Given the description of an element on the screen output the (x, y) to click on. 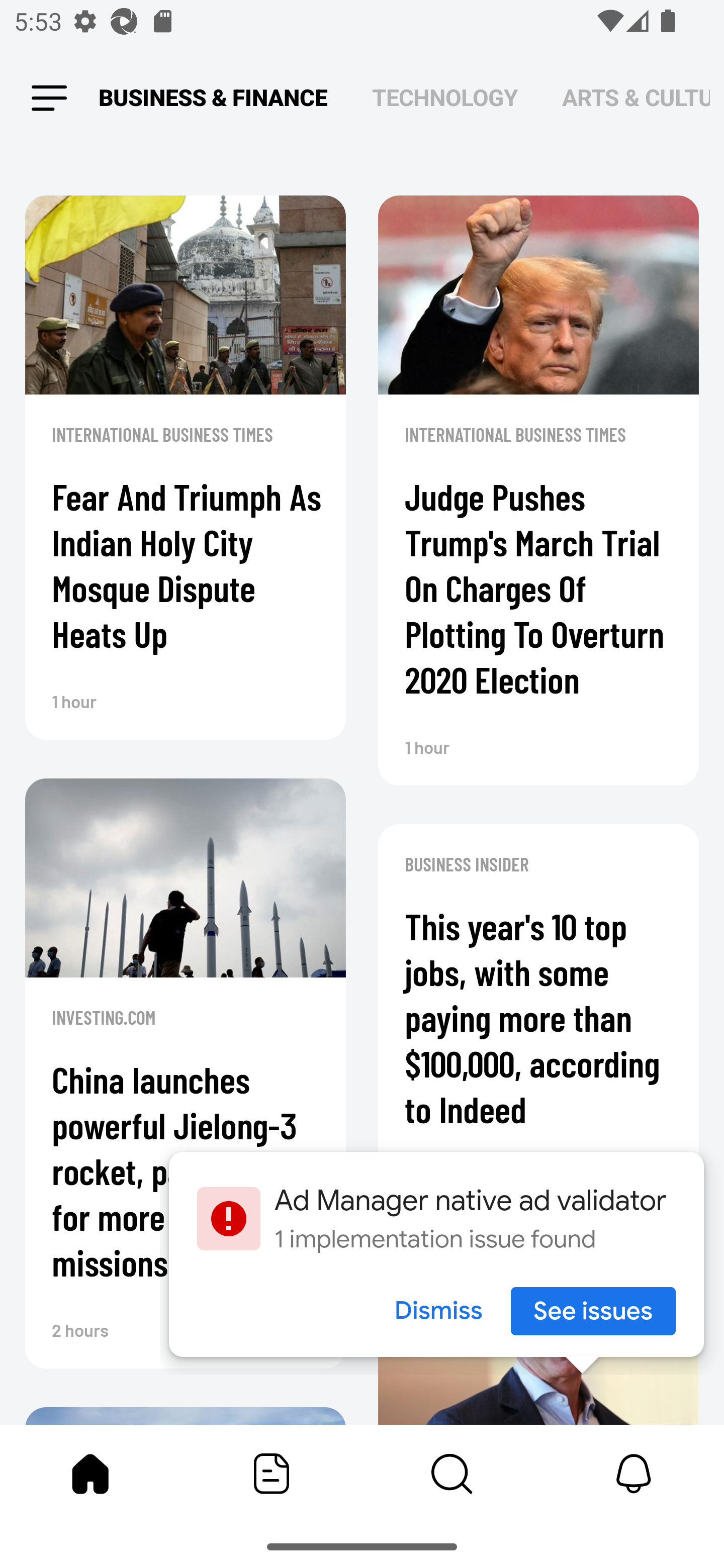
Leading Icon (49, 98)
TECHNOLOGY (444, 97)
ARTS & CULTURE (635, 97)
Featured (271, 1473)
Content Store (452, 1473)
Notifications (633, 1473)
